Given the description of an element on the screen output the (x, y) to click on. 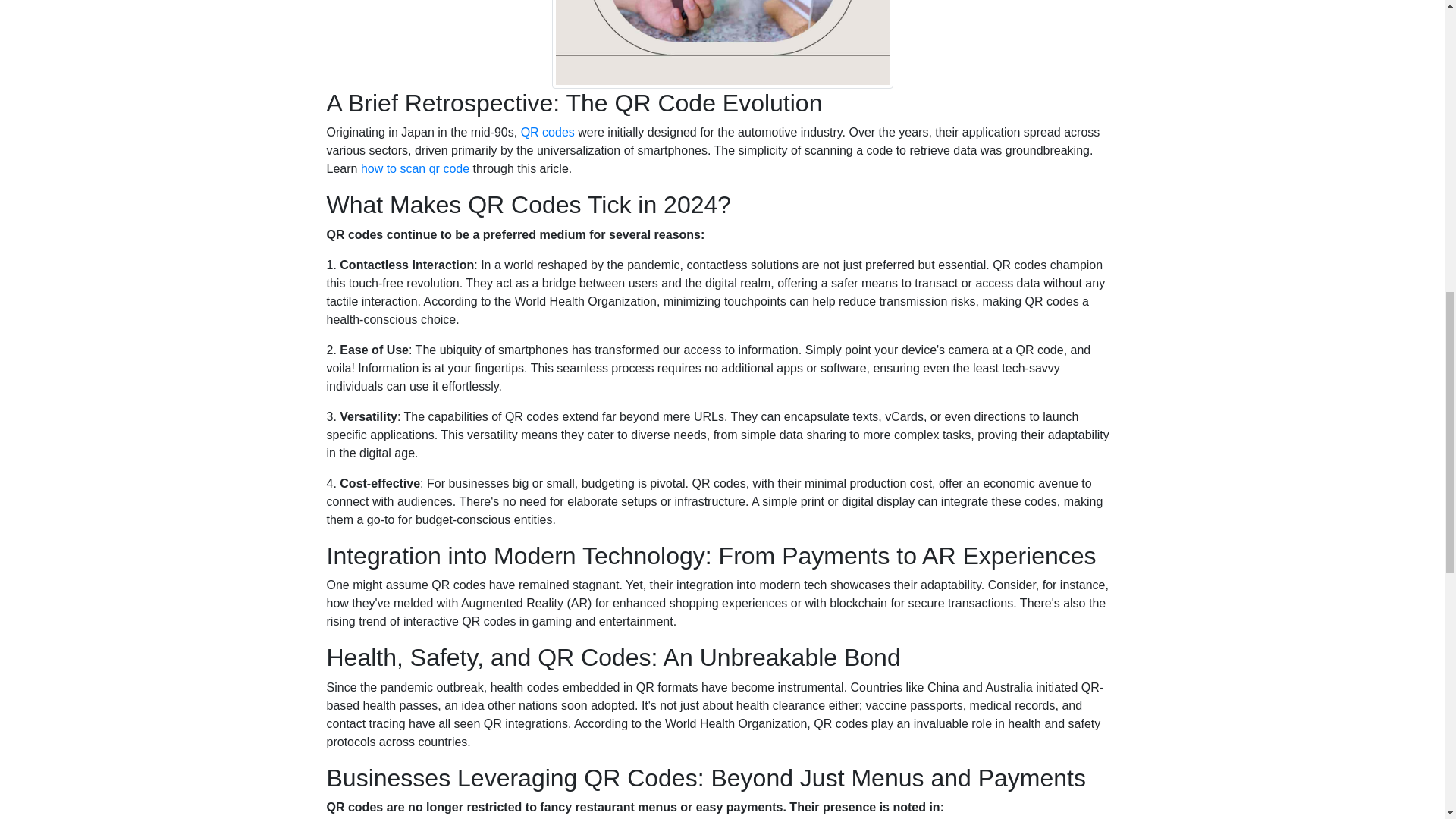
how to scan qr code (414, 168)
QR codes (548, 132)
